Given the description of an element on the screen output the (x, y) to click on. 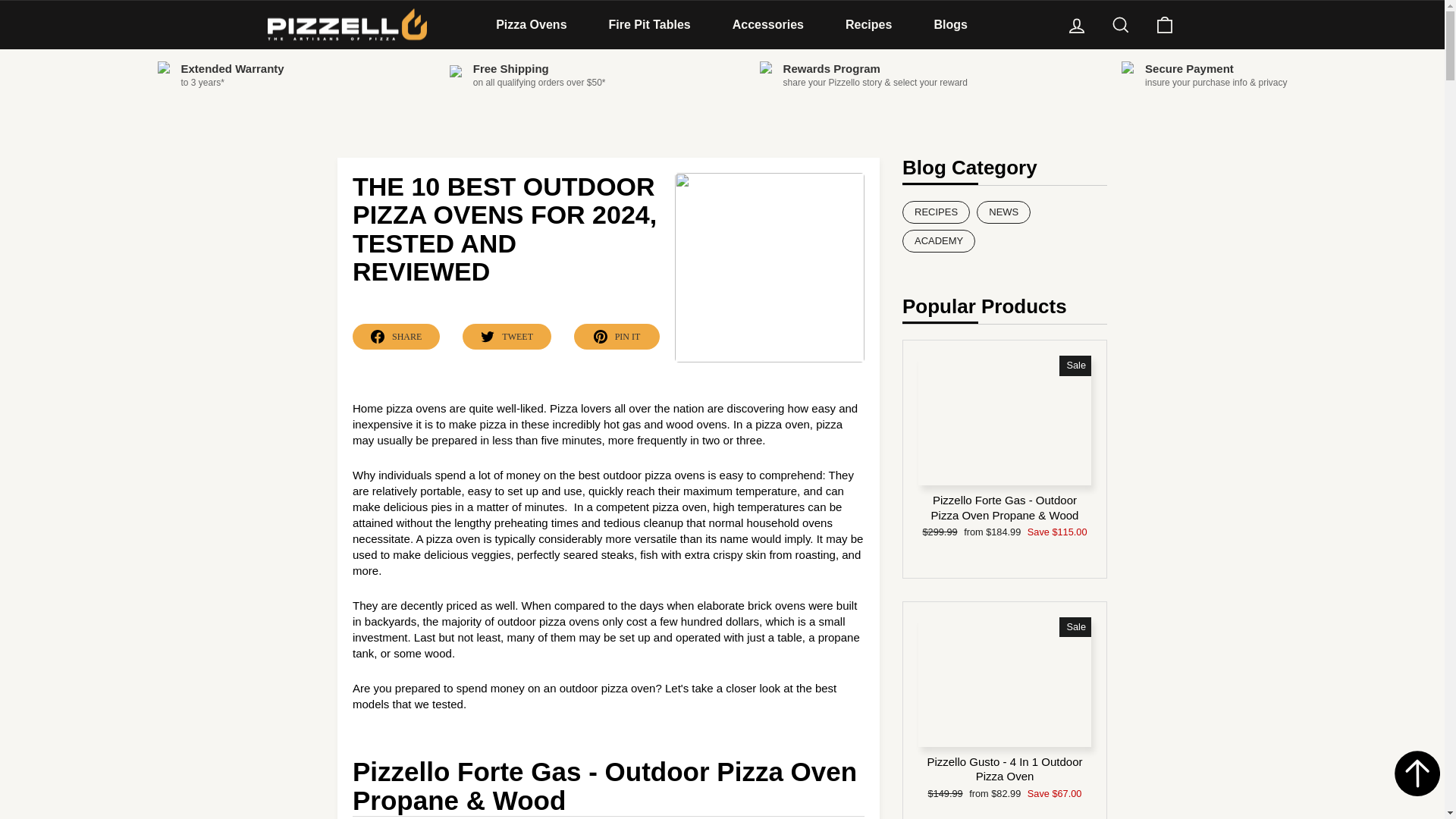
Tweet on Twitter (507, 336)
Share on Facebook (395, 336)
Pin on Pinterest (616, 336)
